Given the description of an element on the screen output the (x, y) to click on. 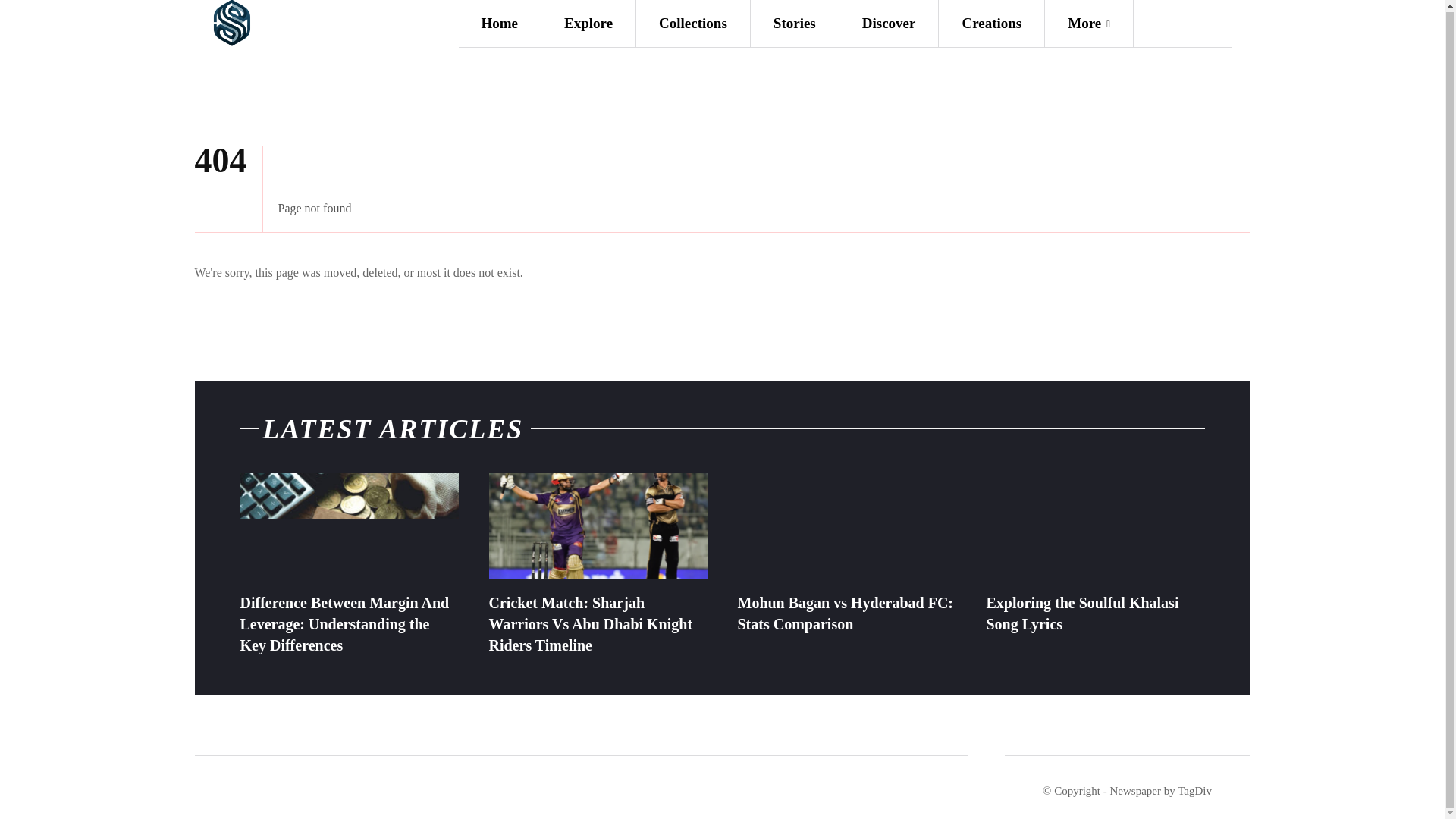
Mohun Bagan vs Hyderabad FC: Stats Comparison (844, 613)
More (1088, 23)
Creations (991, 23)
Stories (794, 23)
Explore (587, 23)
Mohun Bagan vs Hyderabad FC: Stats Comparison (845, 527)
Discover (889, 23)
Exploring the Soulful Khalasi Song Lyrics (1081, 613)
Exploring the Soulful Khalasi Song Lyrics (1094, 527)
Collections (692, 23)
Home (499, 23)
